Given the description of an element on the screen output the (x, y) to click on. 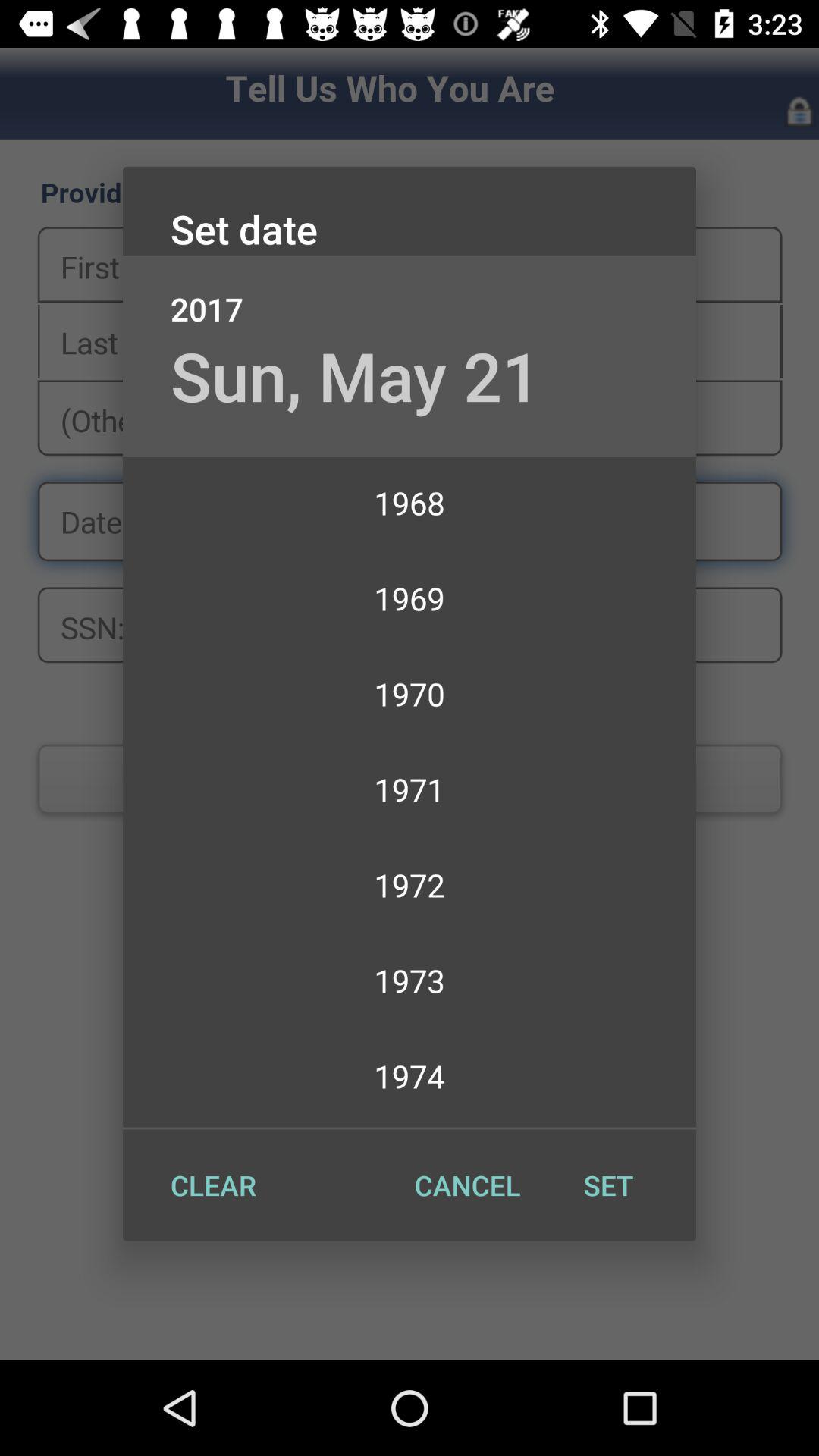
jump to the sun, may 21 app (355, 375)
